Given the description of an element on the screen output the (x, y) to click on. 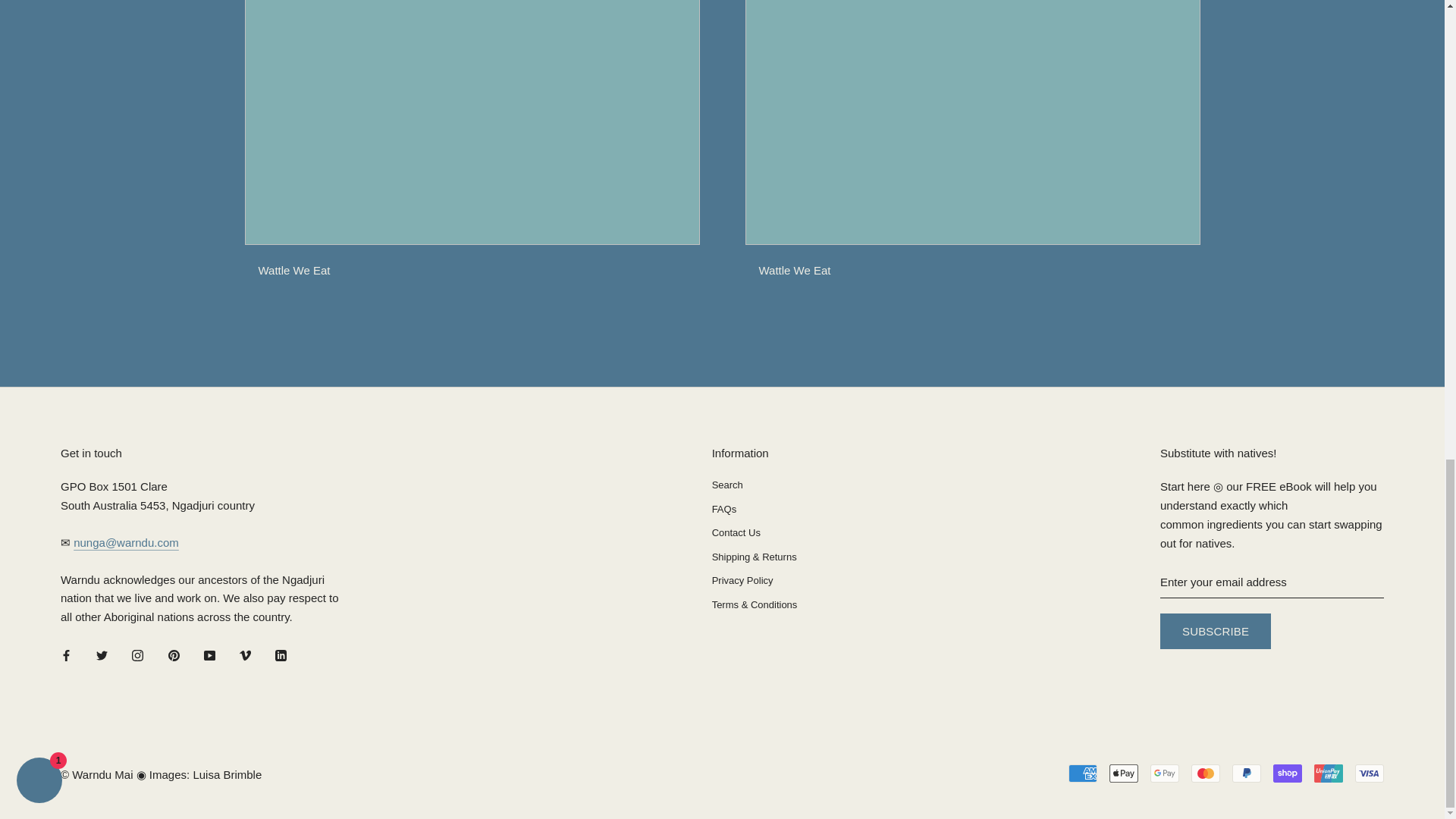
Google Pay (1164, 773)
PayPal (1245, 773)
Shop Pay (1286, 773)
Mastercard (1205, 773)
Visa (1369, 773)
Apple Pay (1123, 773)
American Express (1082, 773)
Union Pay (1328, 773)
